Given the description of an element on the screen output the (x, y) to click on. 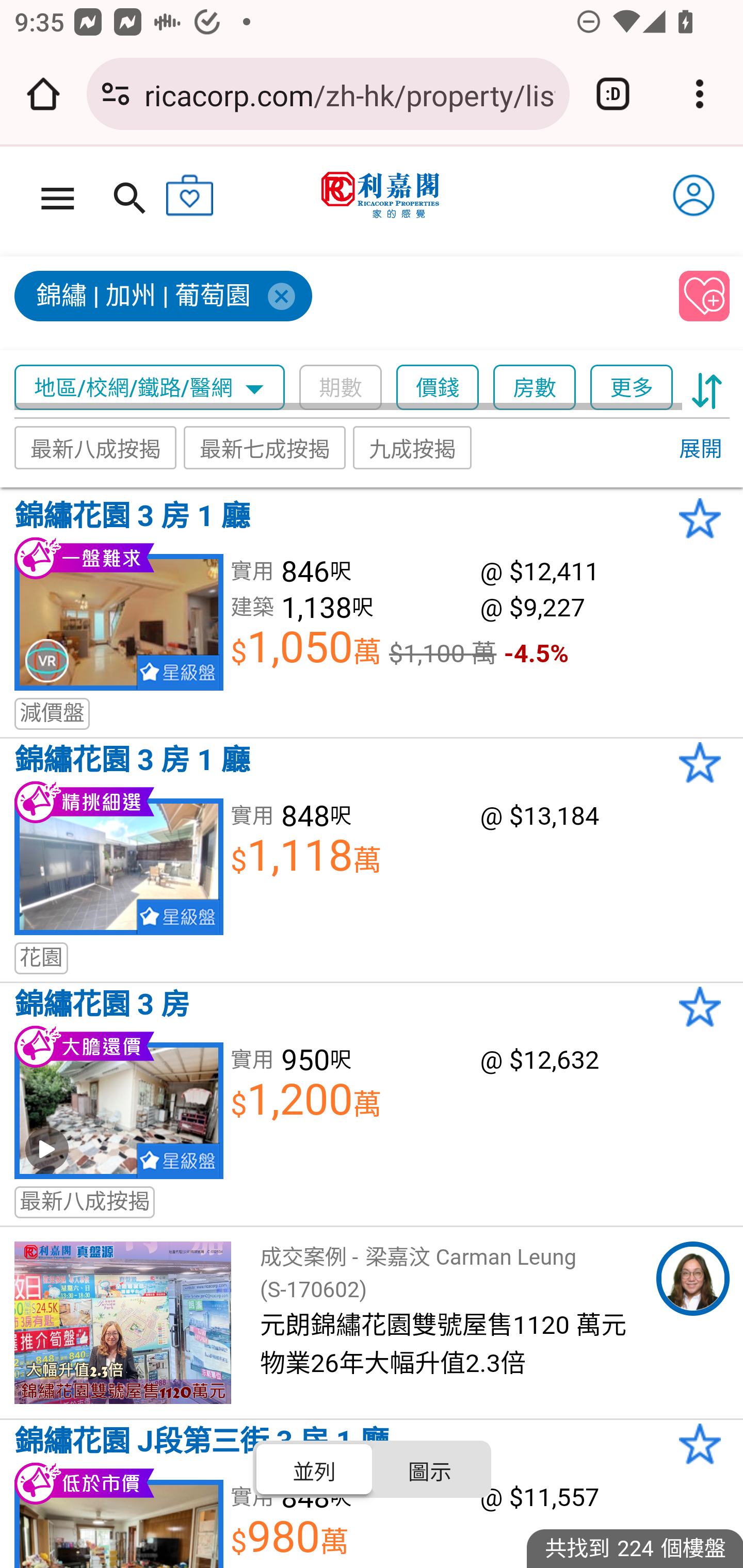
Open the home page (43, 93)
Connection is secure (115, 93)
Switch or close tabs (612, 93)
Customize and control Google Chrome (699, 93)
錦繡 | 加州 | 葡萄園 (338, 304)
地區/校網/鐵路/醫網 (149, 387)
期數 (339, 387)
價錢 (437, 387)
房數 (535, 387)
更多 (630, 387)
sort (706, 387)
最新八成按揭 (96, 446)
最新七成按揭 (264, 446)
九成按揭 (412, 446)
並列 (314, 1468)
圖示 (429, 1468)
